Given the description of an element on the screen output the (x, y) to click on. 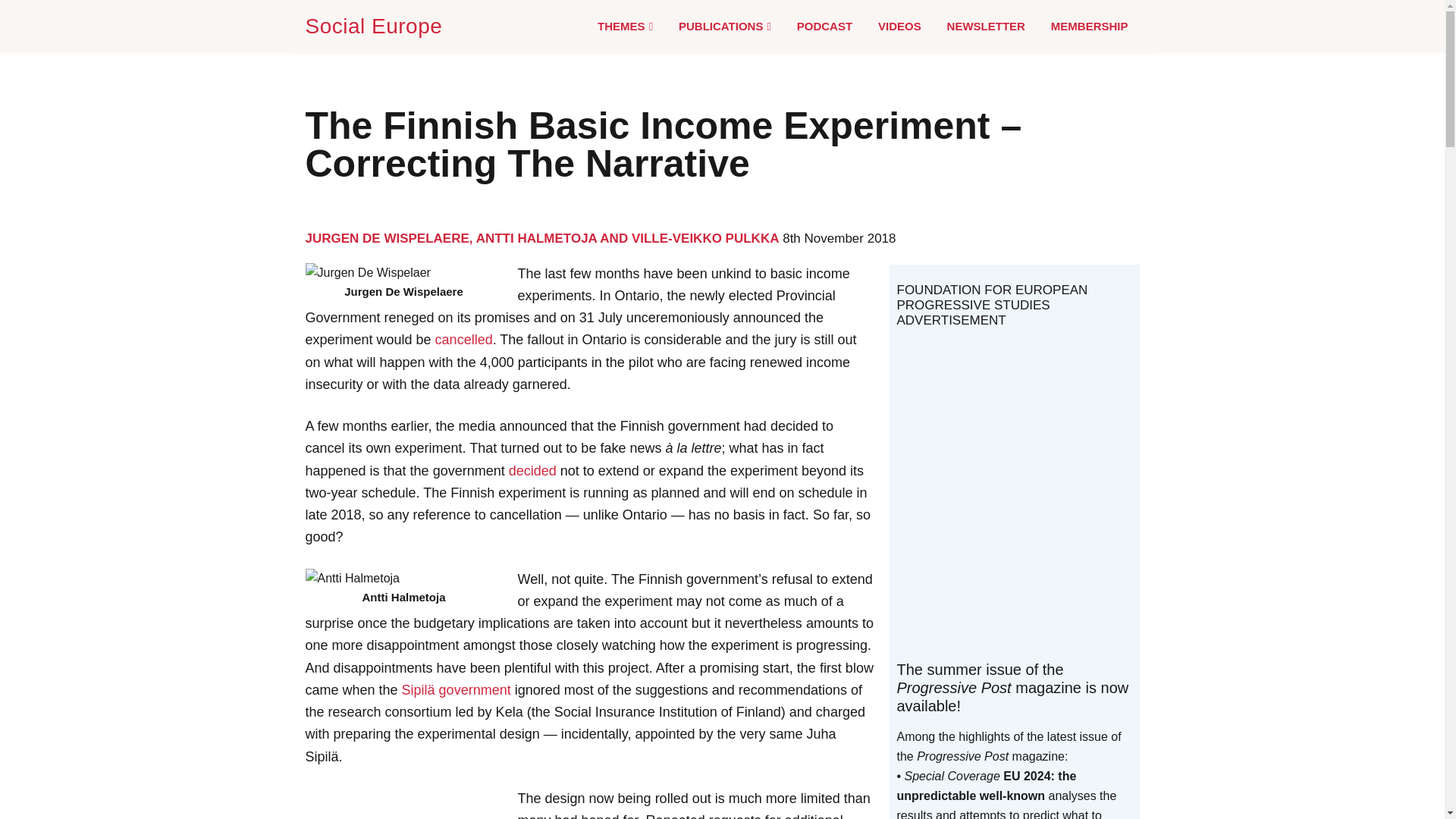
Social Europe (376, 26)
NEWSLETTER (986, 25)
VIDEOS (899, 25)
THEMES (624, 26)
PUBLICATIONS (724, 26)
PODCAST (824, 25)
cancelled (464, 339)
MEMBERSHIP (1089, 25)
decided (532, 470)
